Given the description of an element on the screen output the (x, y) to click on. 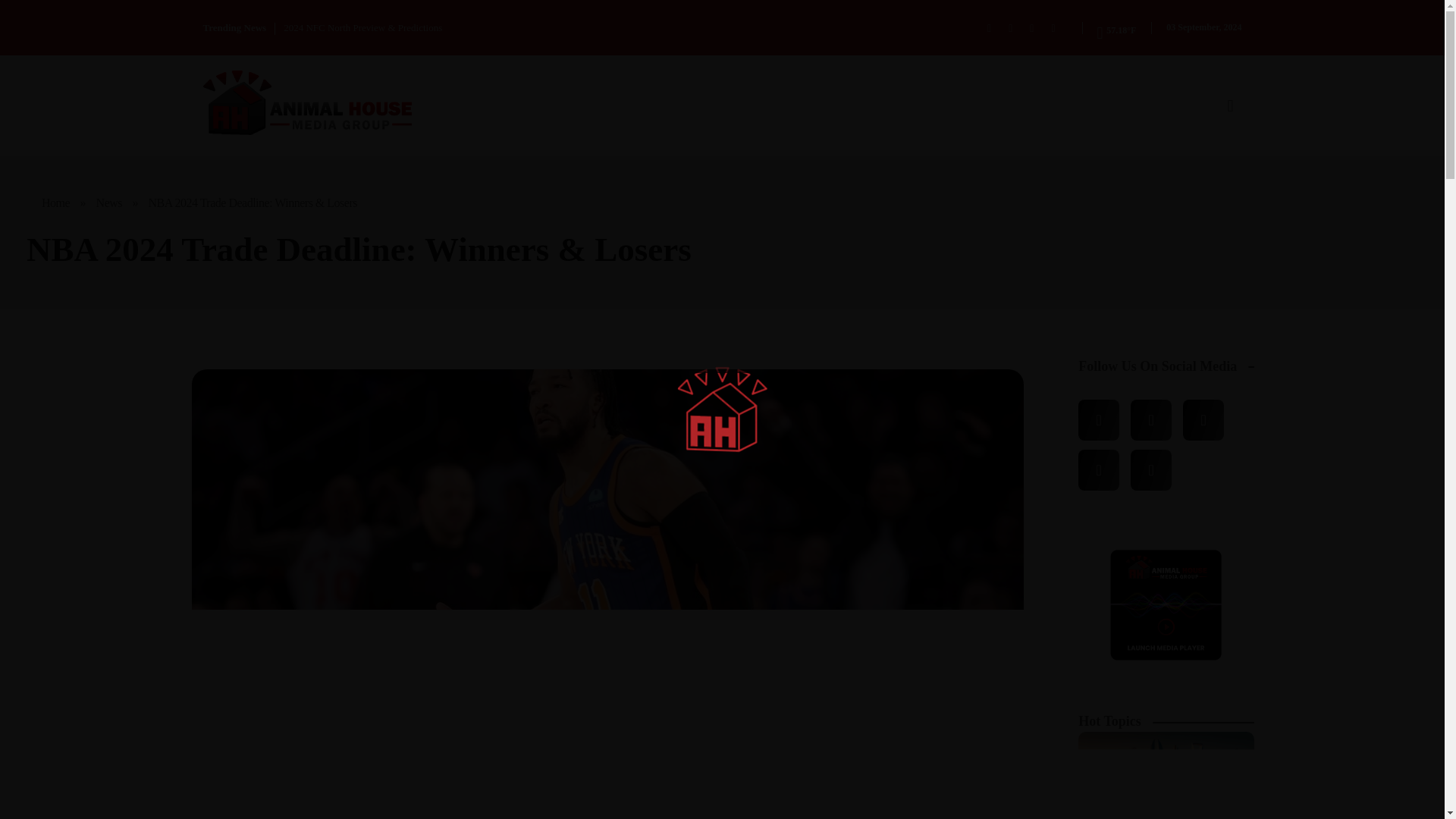
Home (55, 202)
The Animal House (307, 102)
The Animal House (291, 144)
The Animal House (291, 144)
News (109, 202)
